Given the description of an element on the screen output the (x, y) to click on. 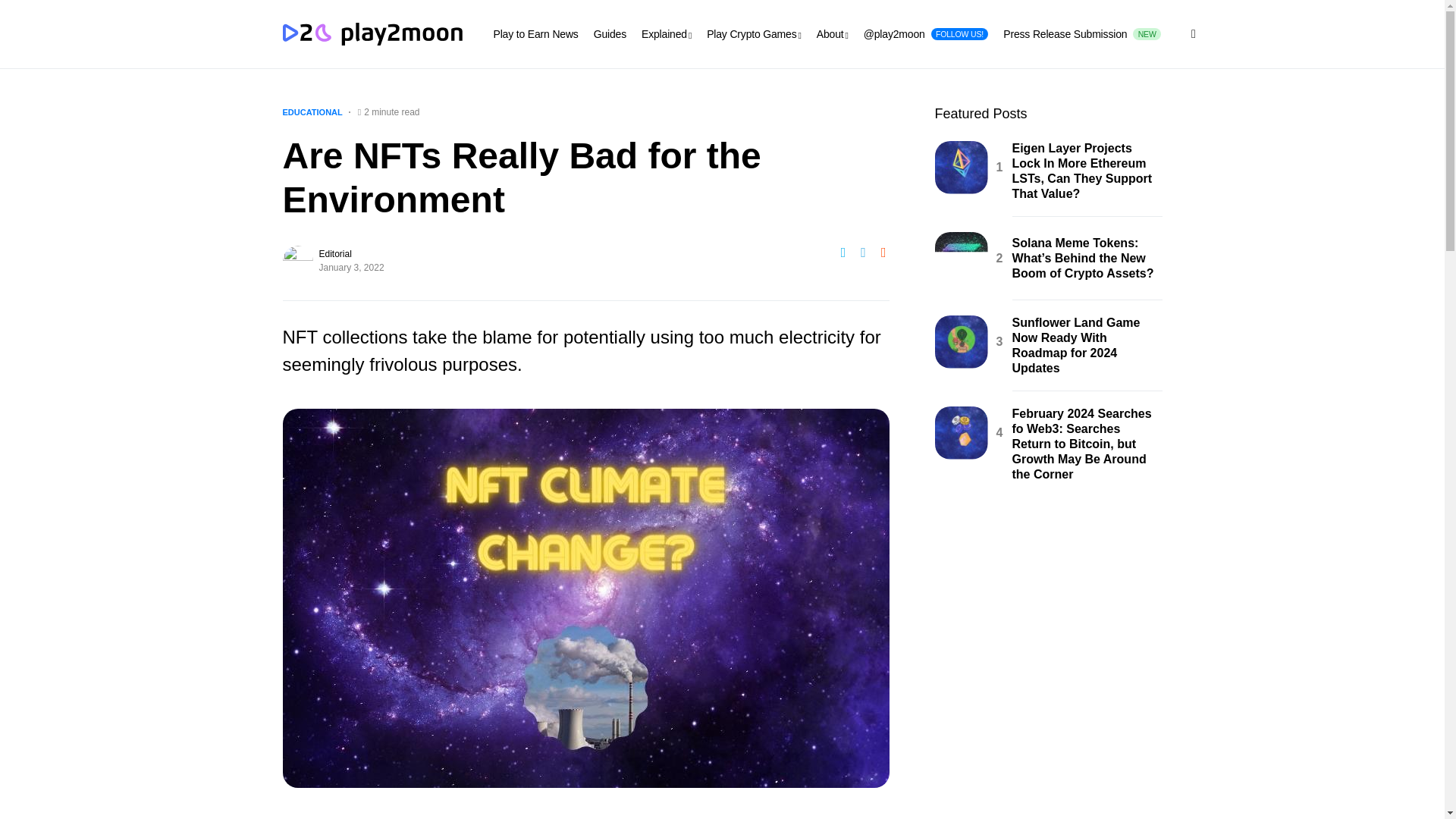
Play to Earn News (535, 33)
Play Crypto Games (1081, 33)
